Given the description of an element on the screen output the (x, y) to click on. 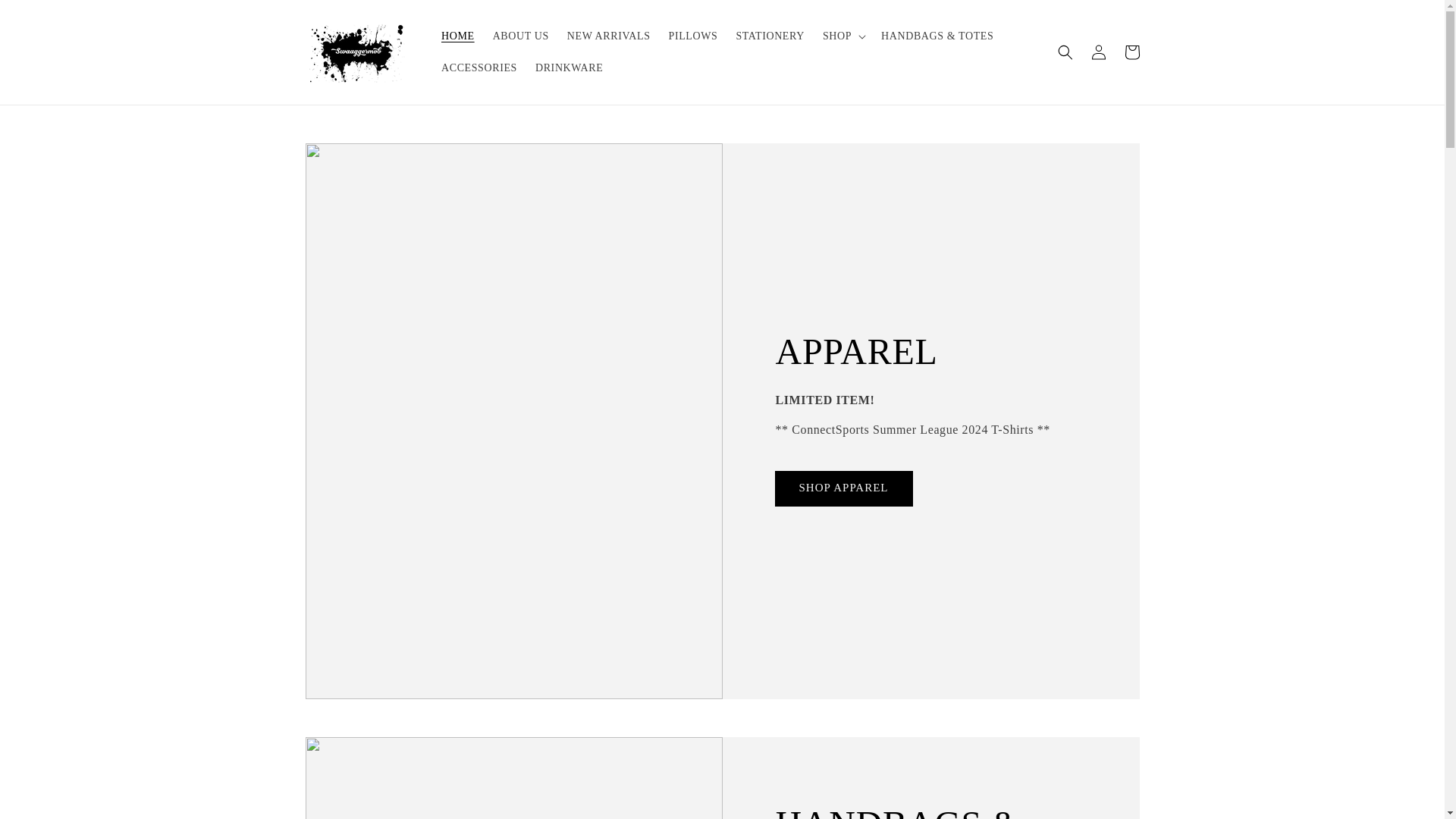
ACCESSORIES (478, 68)
DRINKWARE (568, 68)
HOME (457, 36)
ABOUT US (520, 36)
Log in (1098, 52)
NEW ARRIVALS (608, 36)
Cart (1131, 52)
STATIONERY (769, 36)
PILLOWS (692, 36)
Skip to content (45, 16)
